Given the description of an element on the screen output the (x, y) to click on. 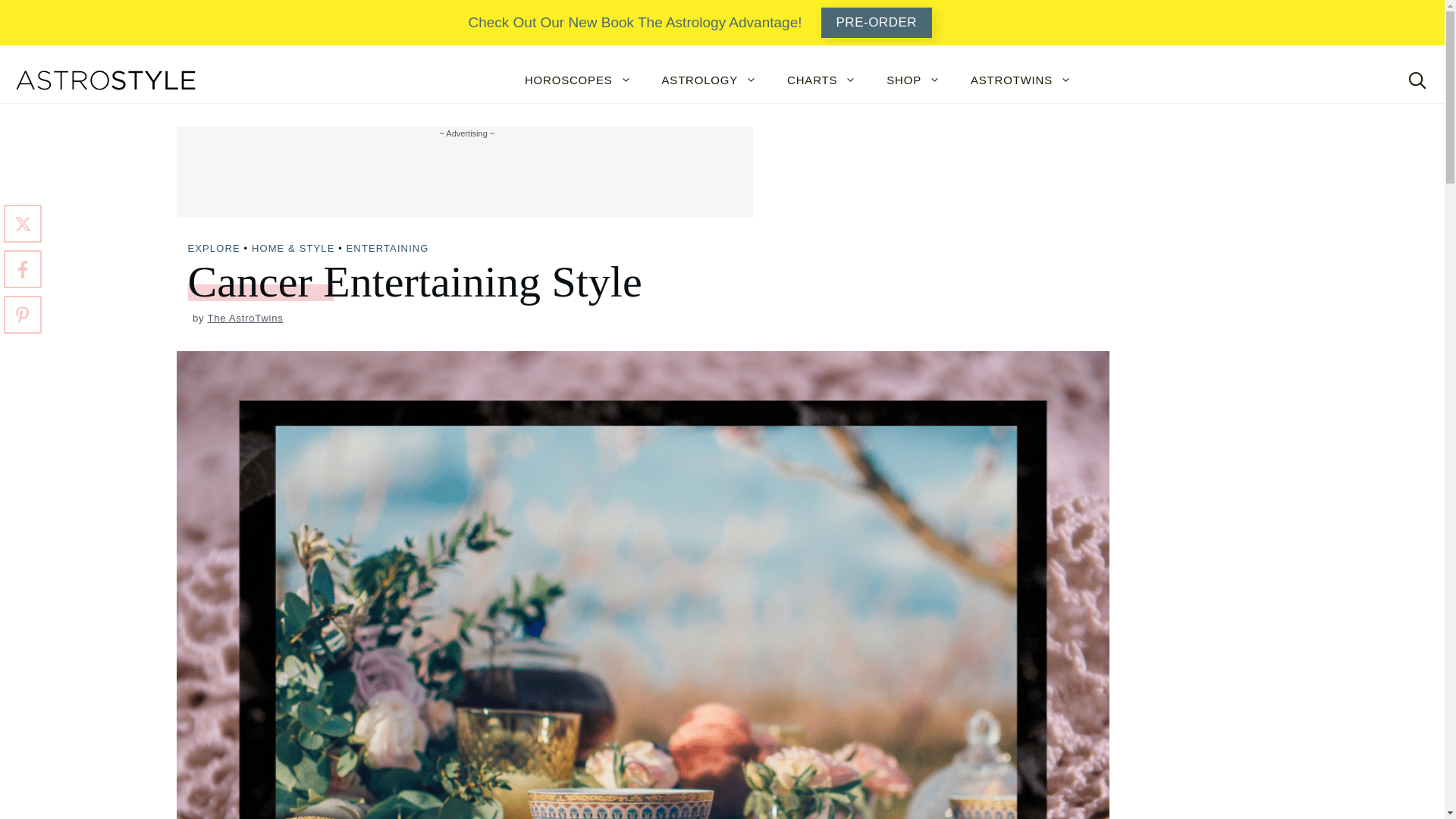
HOROSCOPES (577, 80)
View all posts by The AstroTwins (245, 317)
PRE-ORDER (877, 22)
CHARTS (820, 80)
ASTROLOGY (709, 80)
Check Out Our New Book The Astrology Advantage! (634, 23)
